Given the description of an element on the screen output the (x, y) to click on. 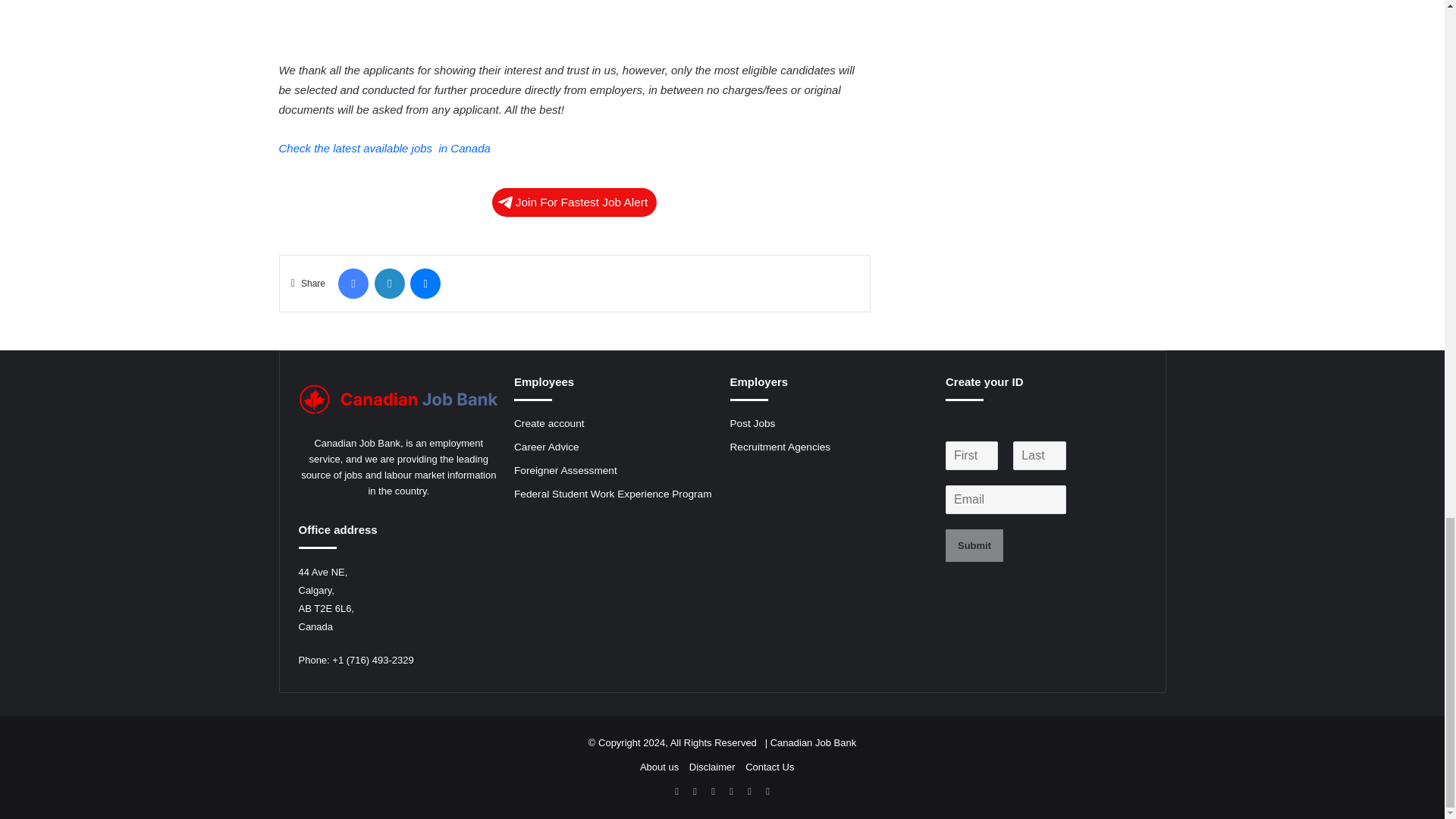
LinkedIn (389, 283)
Join For Fastest Job Alert (575, 202)
LinkedIn (389, 283)
Facebook (352, 283)
Facebook (352, 283)
Check the latest available jobs  in Canada (384, 147)
Messenger (425, 283)
Messenger (425, 283)
